Given the description of an element on the screen output the (x, y) to click on. 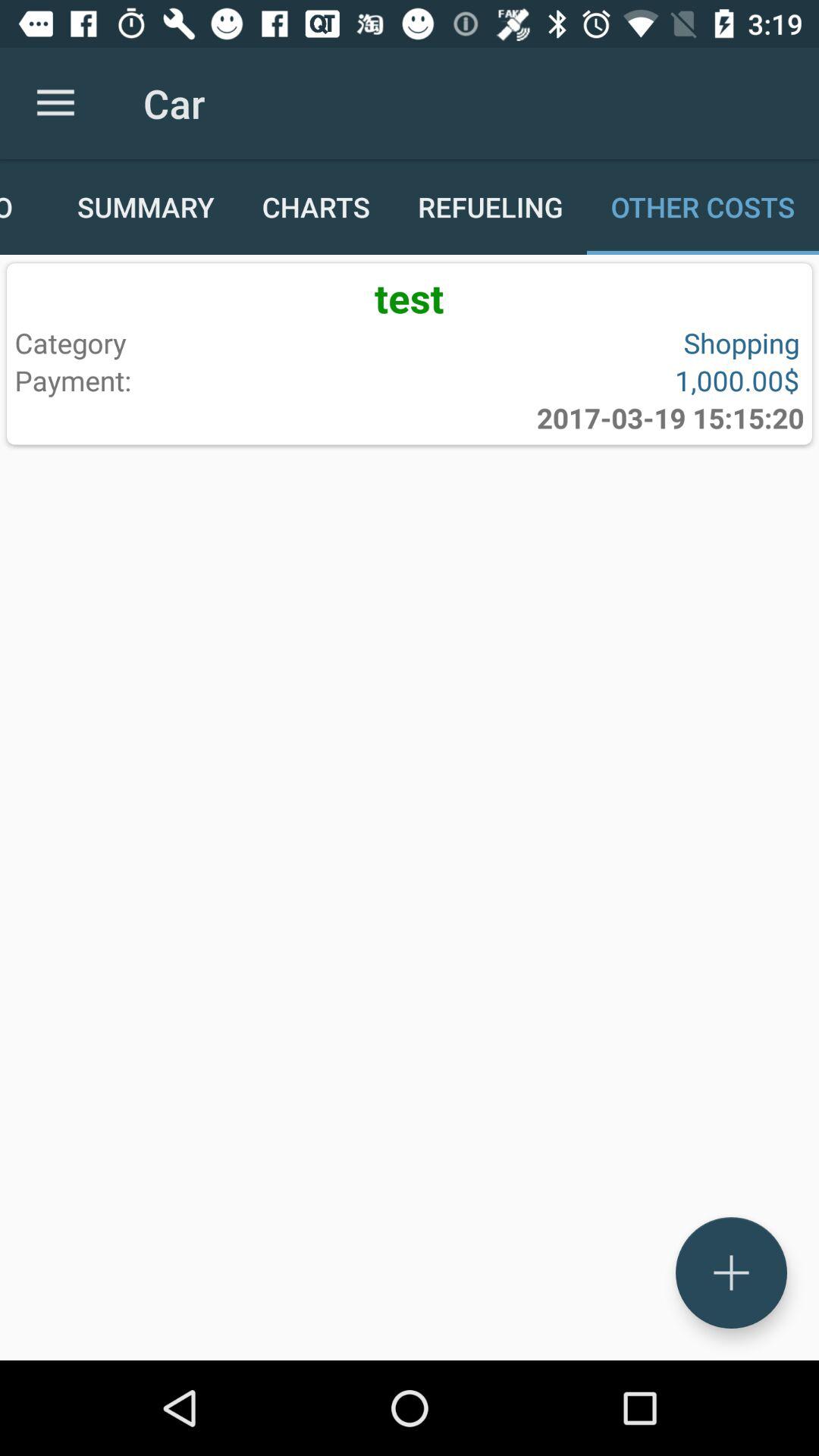
turn off the item next to the category (601, 380)
